Given the description of an element on the screen output the (x, y) to click on. 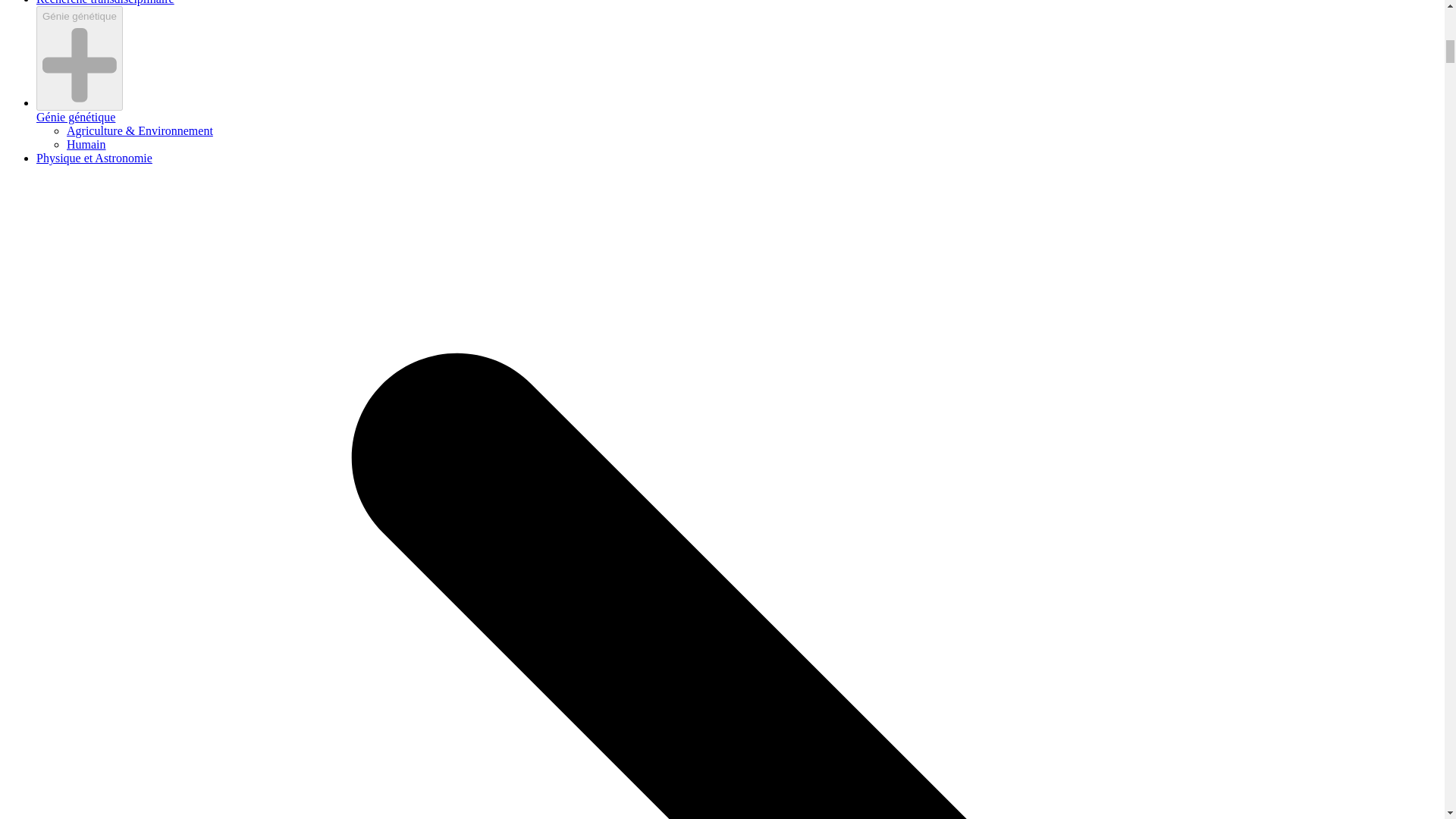
Physique et Astronomie (94, 157)
Humain (86, 144)
Recherche transdisciplinaire (105, 2)
